Given the description of an element on the screen output the (x, y) to click on. 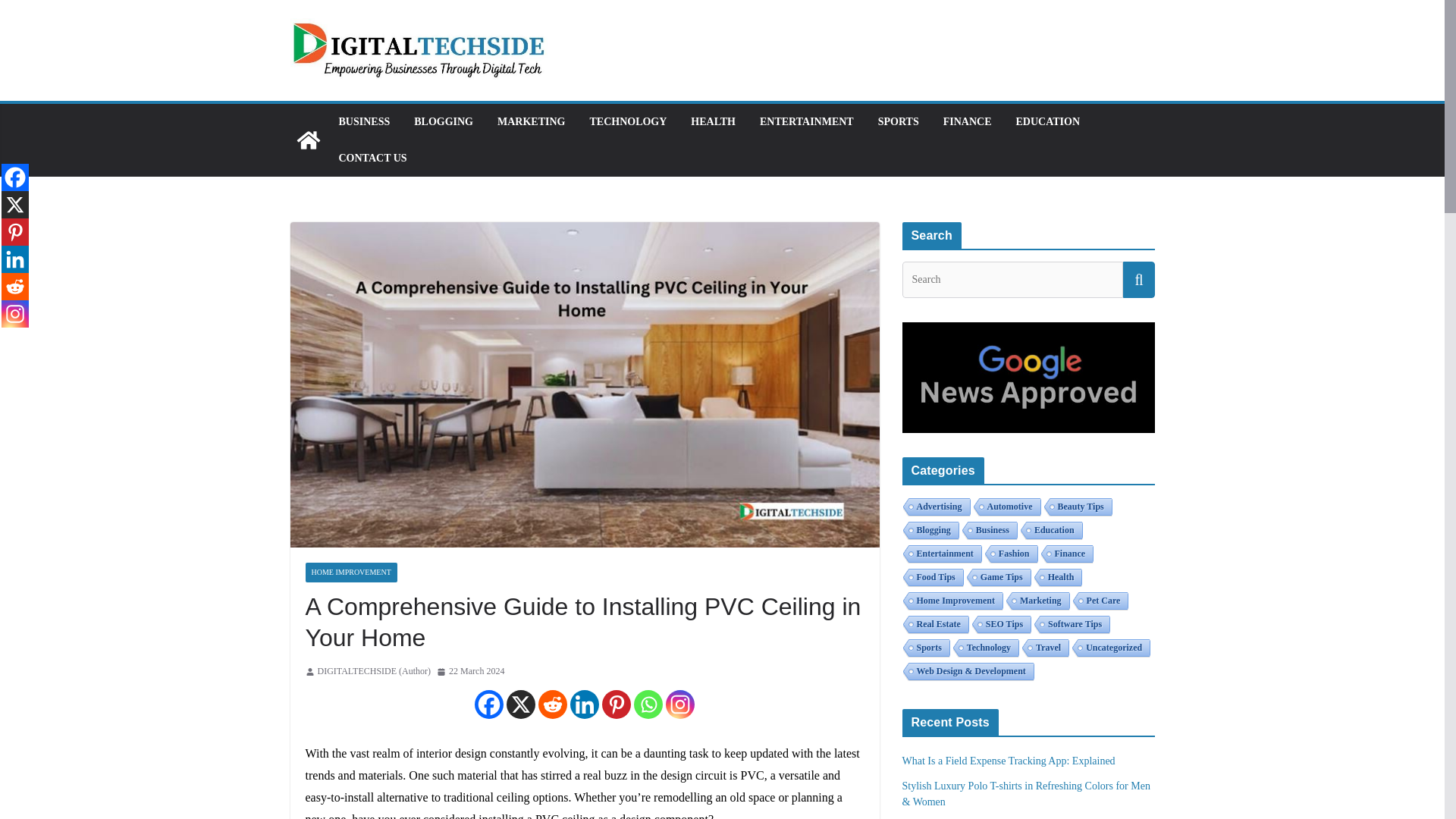
Whatsapp (647, 704)
ENTERTAINMENT (806, 121)
Linkedin (584, 704)
CONTACT US (371, 158)
SPORTS (897, 121)
TECHNOLOGY (627, 121)
Reddit (552, 704)
Pinterest (616, 704)
Facebook (488, 704)
DIGITALTECHSIDE (307, 140)
